Given the description of an element on the screen output the (x, y) to click on. 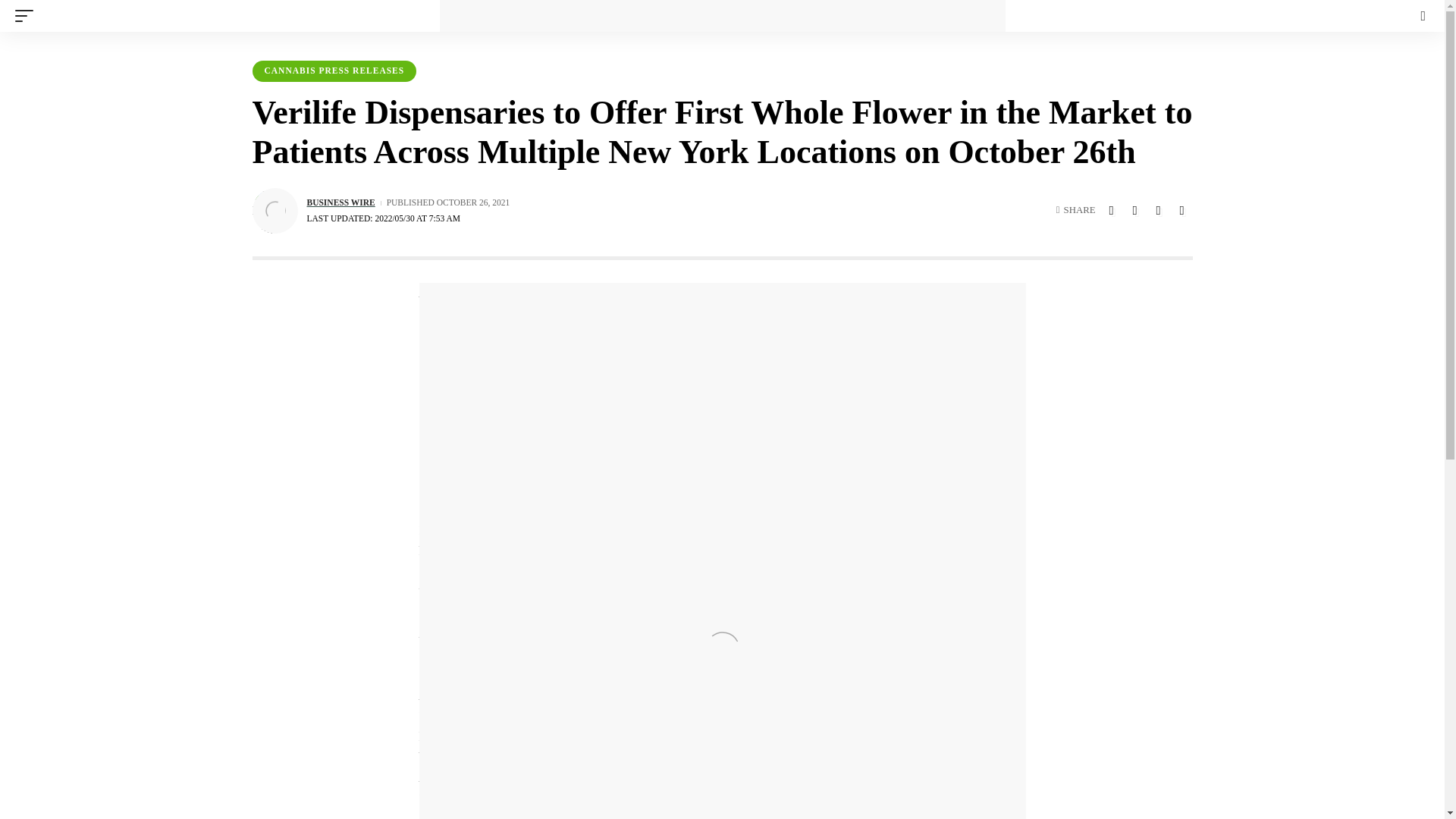
Verilife (701, 333)
PharmaCann Inc. (631, 313)
Cannabis News (722, 15)
CANNABIS PRESS RELEASES (333, 70)
BUSINESS WIRE (339, 202)
